Given the description of an element on the screen output the (x, y) to click on. 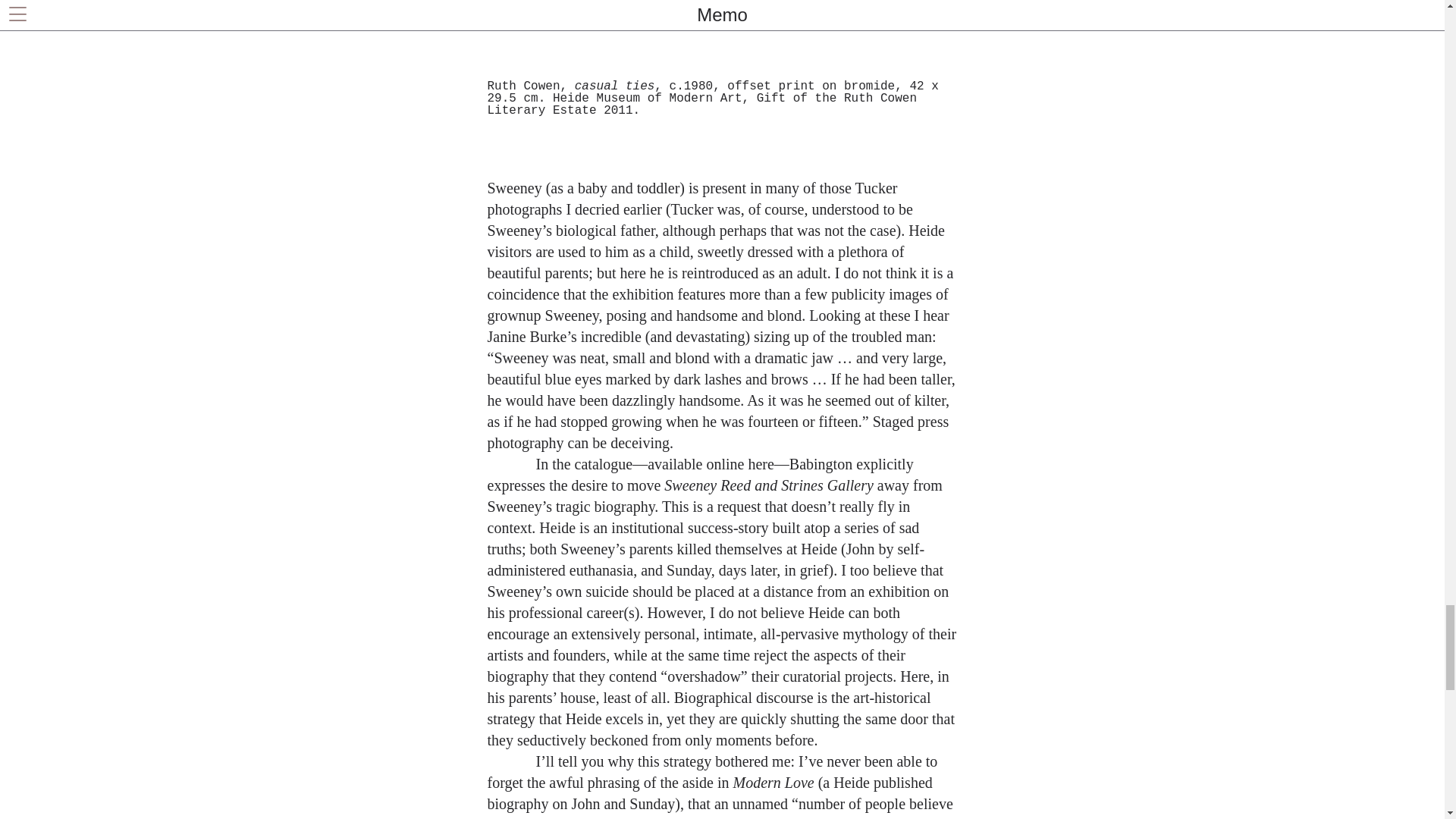
here (760, 463)
